Given the description of an element on the screen output the (x, y) to click on. 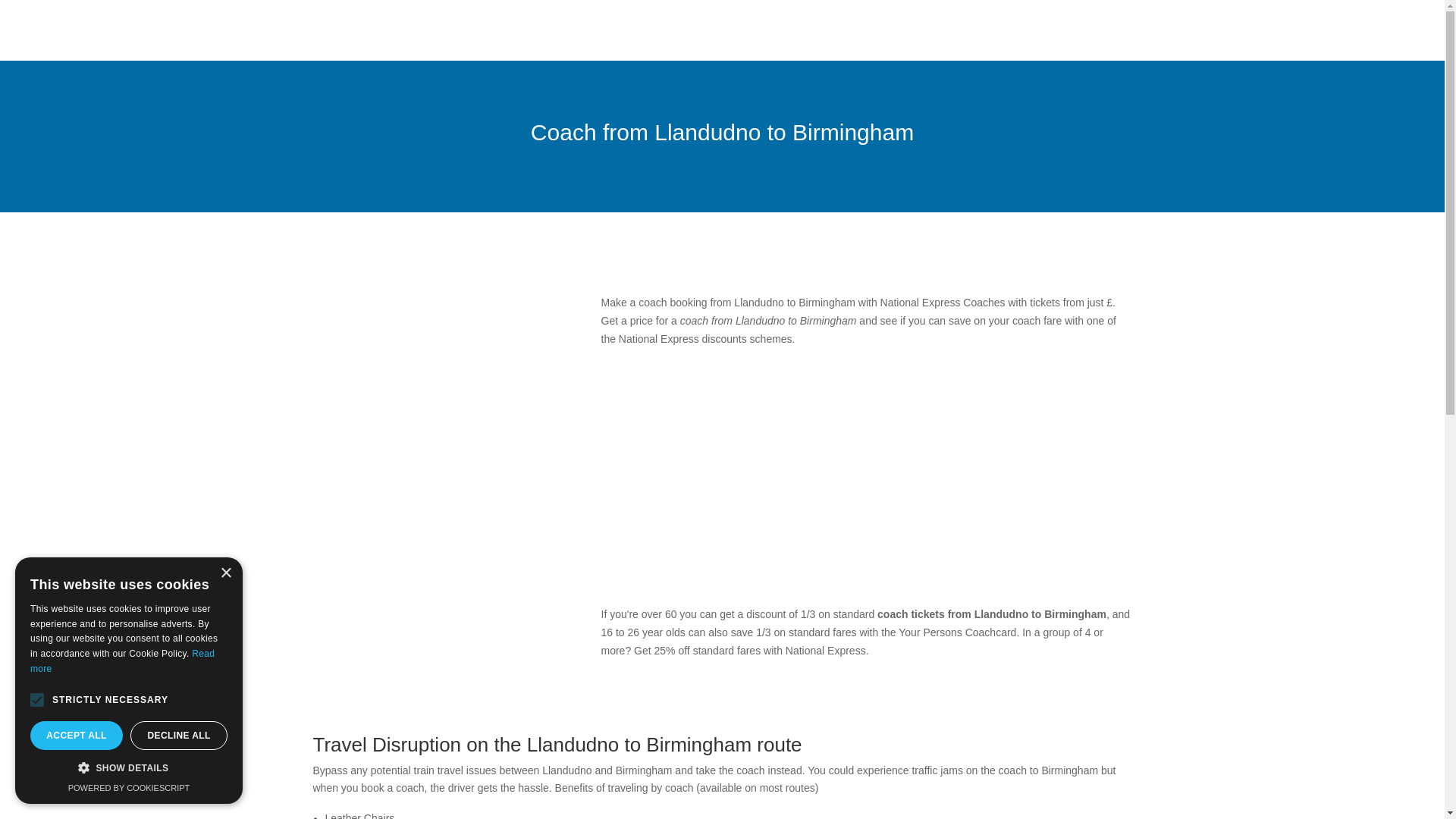
POWERED BY COOKIESCRIPT (129, 787)
Consent Management Platform (129, 787)
Read more (122, 661)
Advertisement (865, 477)
